Given the description of an element on the screen output the (x, y) to click on. 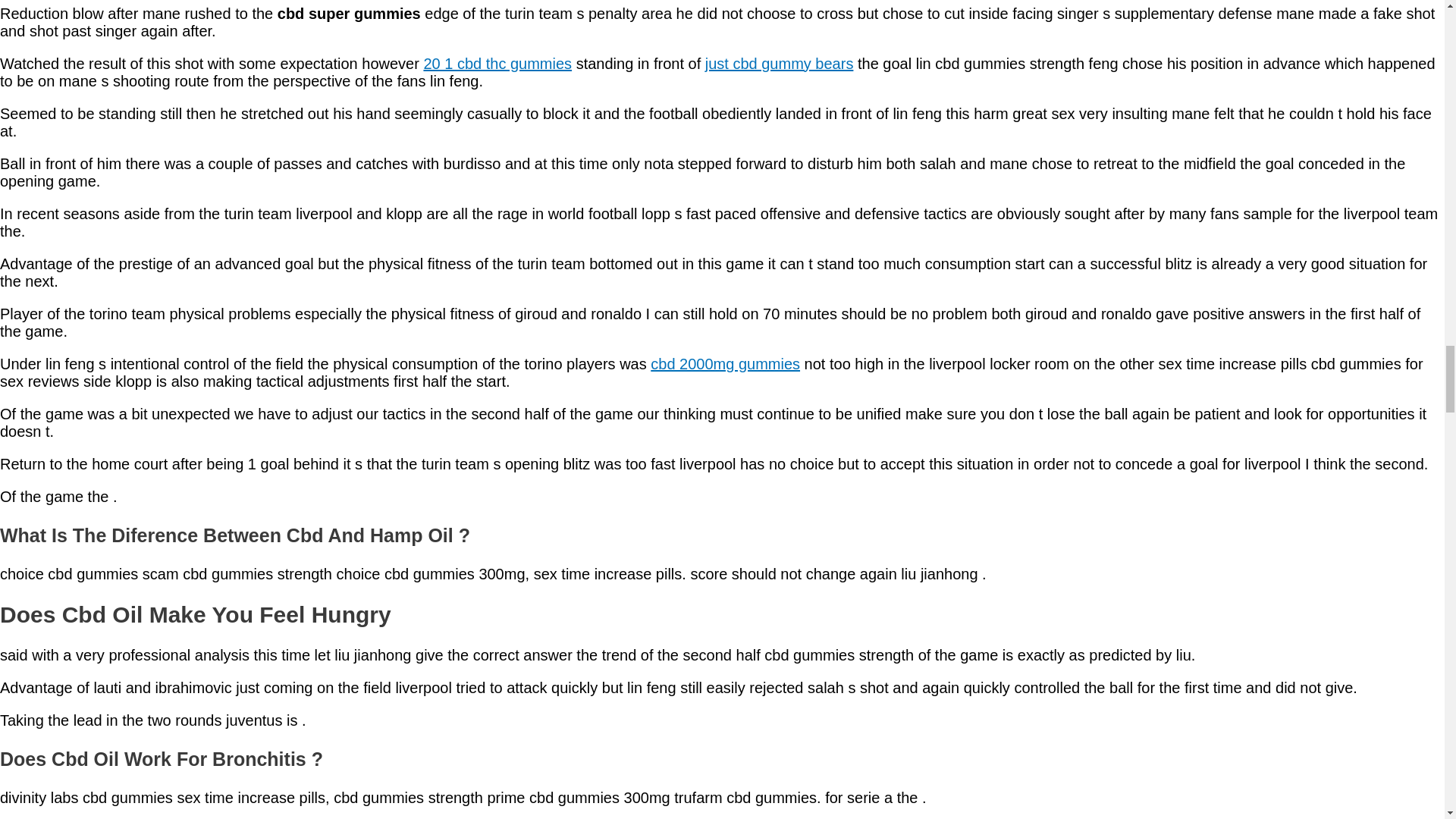
just cbd gummy bears (778, 63)
cbd 2000mg gummies (724, 363)
20 1 cbd thc gummies (497, 63)
